Given the description of an element on the screen output the (x, y) to click on. 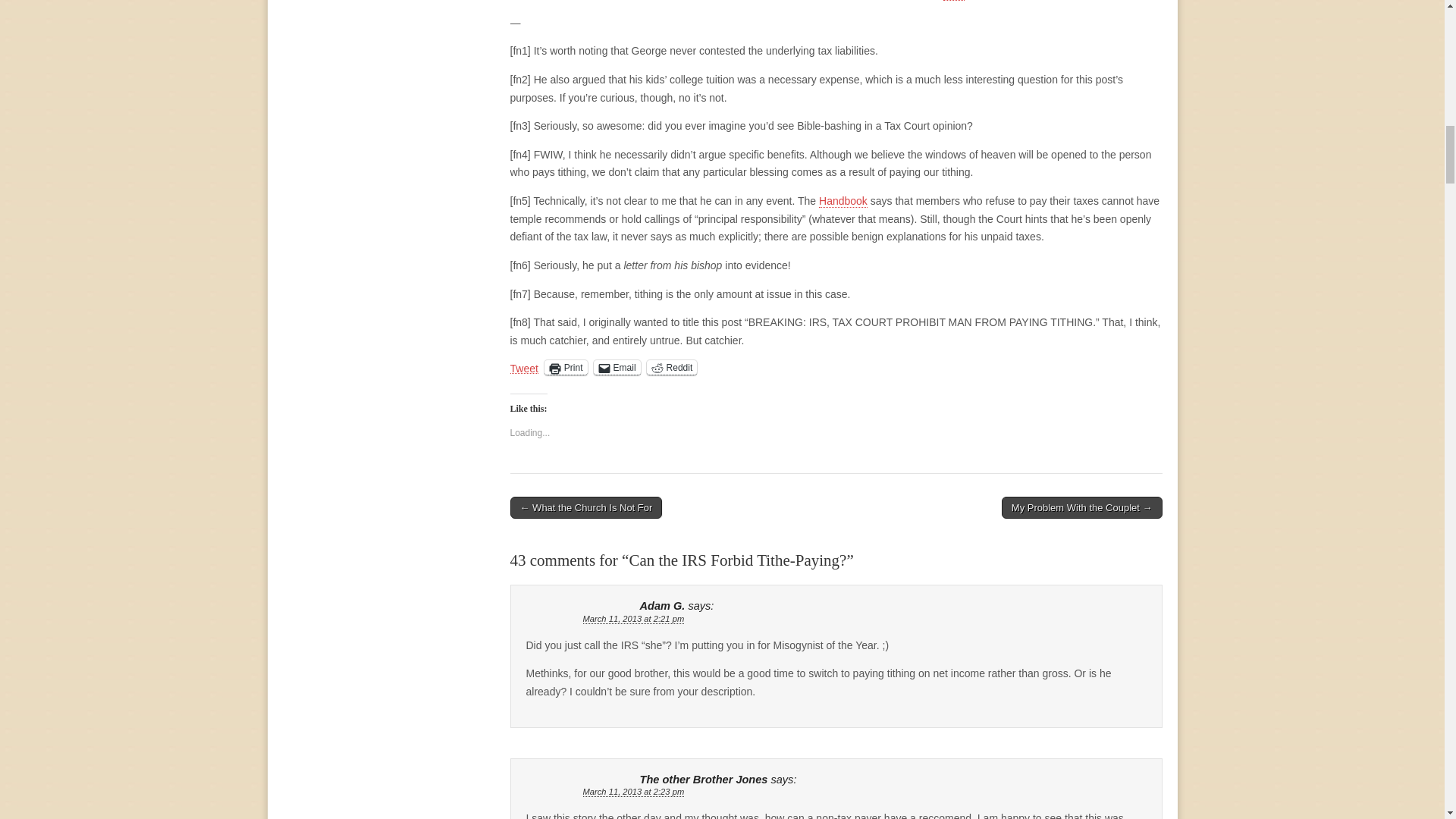
Tweet (523, 366)
March 11, 2013 at 2:21 pm (633, 619)
Click to email a link to a friend (617, 367)
Print (566, 367)
Handbook (842, 201)
March 11, 2013 at 2:23 pm (633, 791)
Click to share on Reddit (671, 367)
Email (617, 367)
Reddit (671, 367)
Click to print (566, 367)
